Given the description of an element on the screen output the (x, y) to click on. 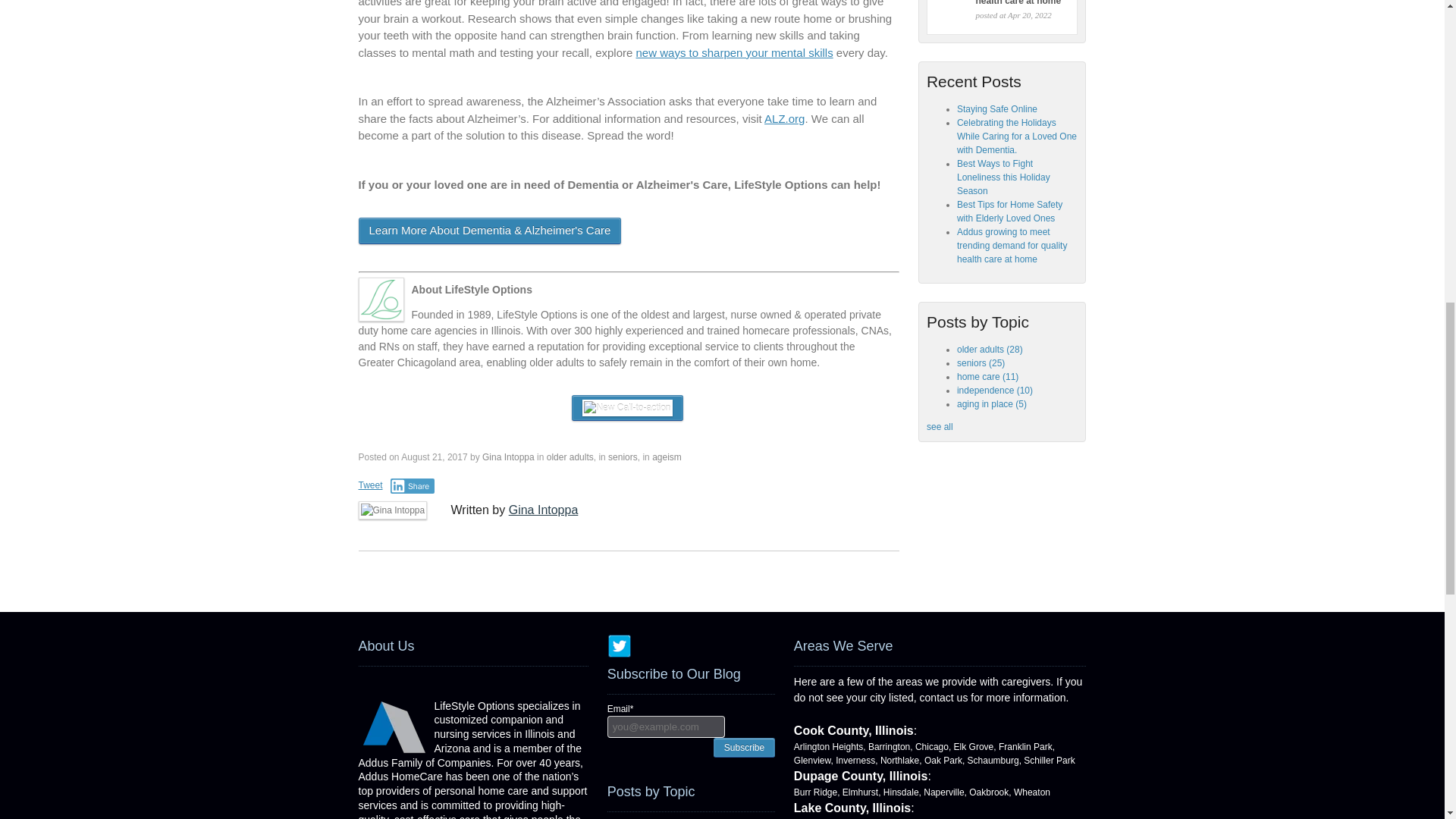
new ways to sharpen your mental skills (734, 51)
Follow us on Facebook (667, 645)
Subscribe (743, 746)
Gina Intoppa (507, 457)
older adults (570, 457)
ALZ.org (784, 118)
Follow us on Linkedin (691, 645)
Follow us on Twitter (619, 645)
